Given the description of an element on the screen output the (x, y) to click on. 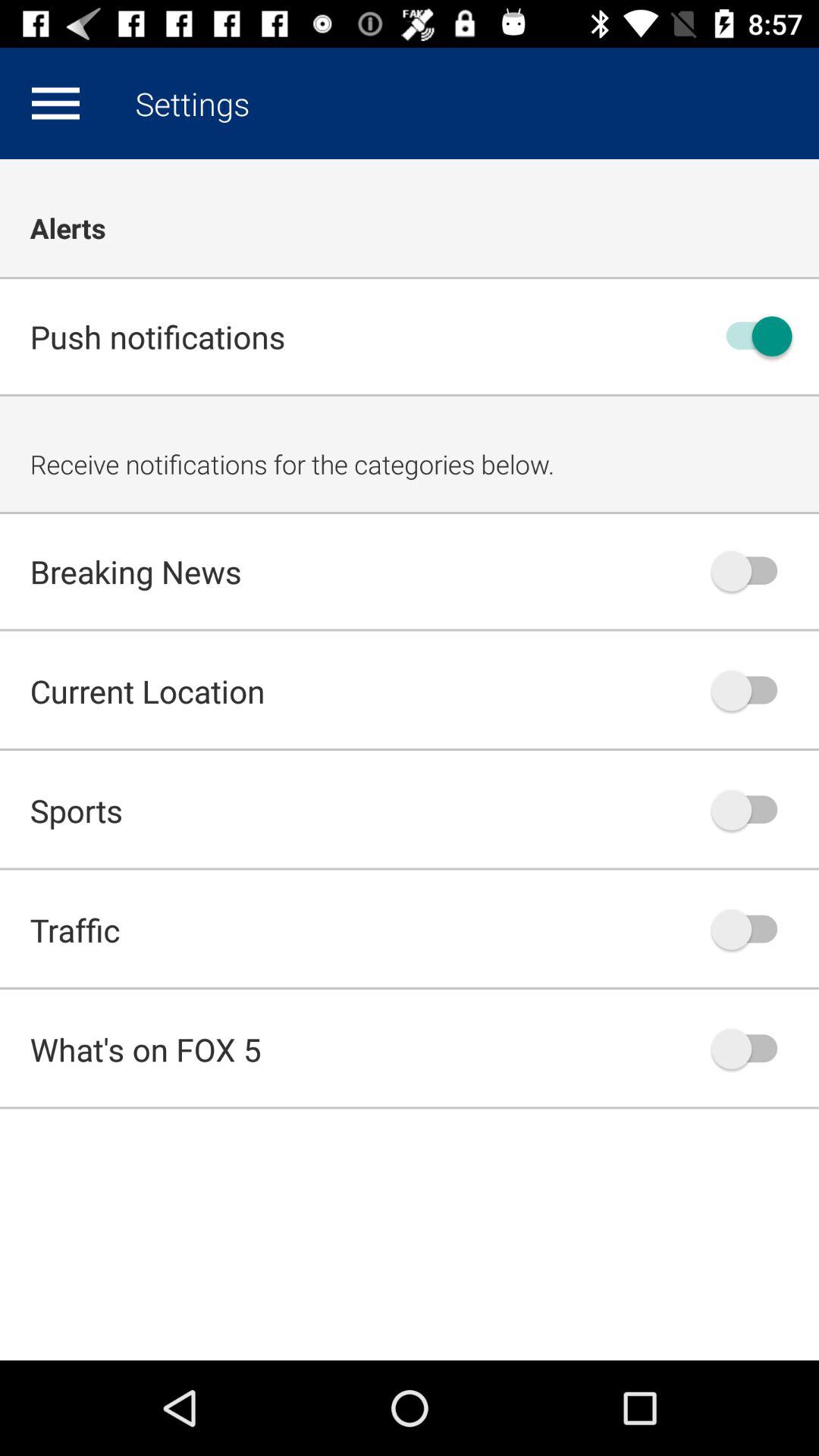
sports notification (751, 810)
